Given the description of an element on the screen output the (x, y) to click on. 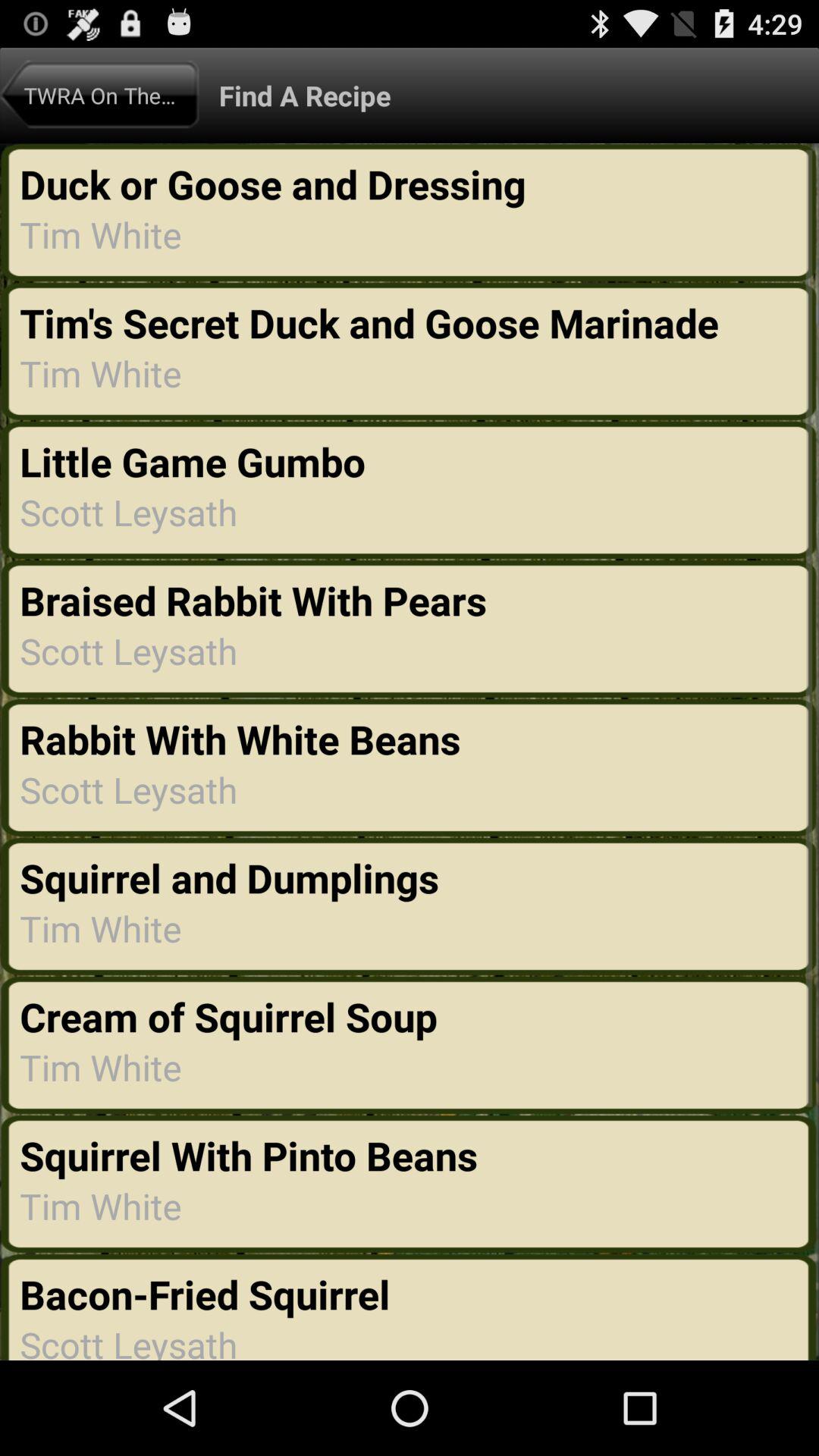
scroll until tim s secret (373, 322)
